Given the description of an element on the screen output the (x, y) to click on. 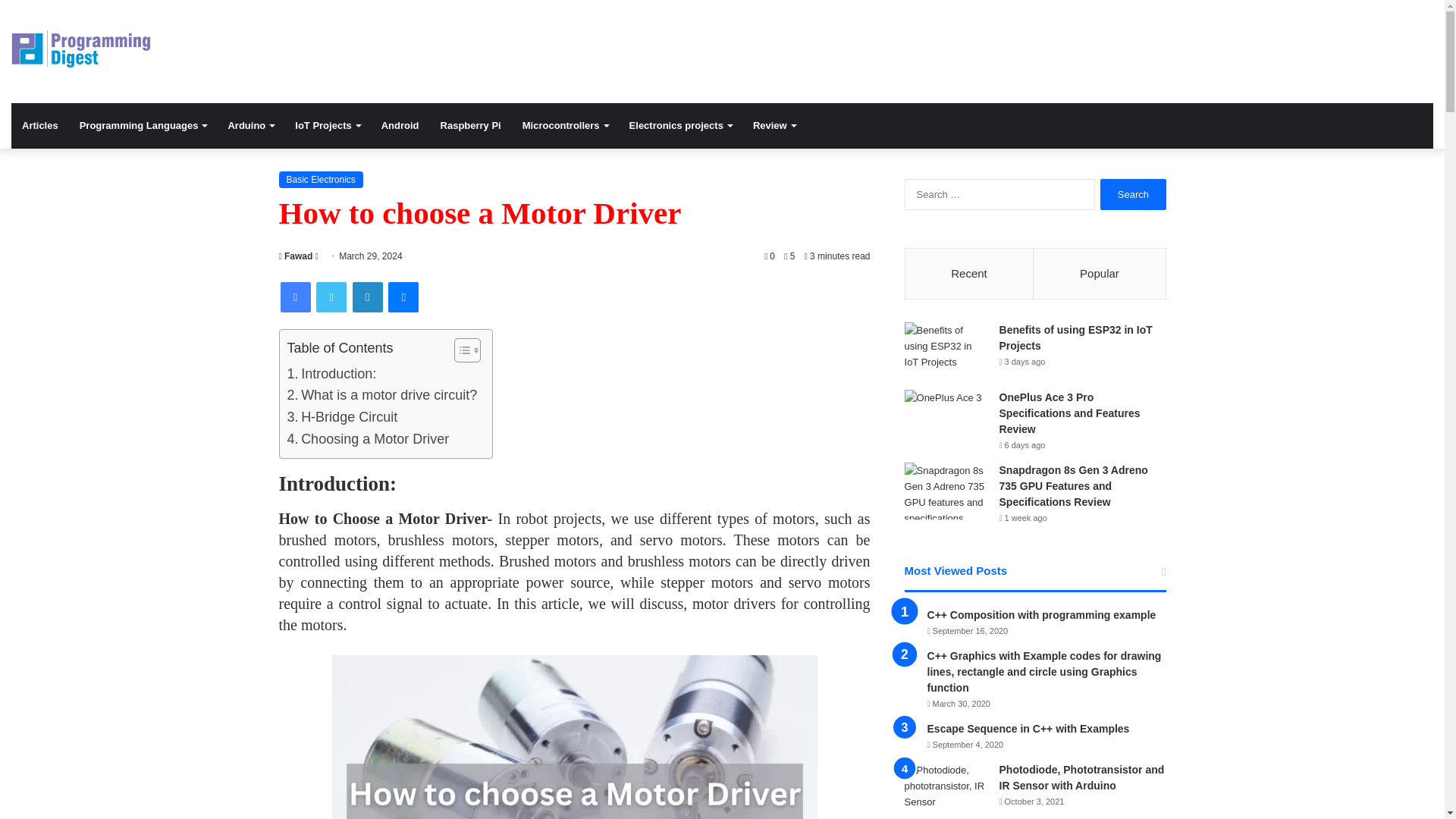
LinkedIn (367, 296)
Twitter (330, 296)
Fawad (296, 255)
Android (400, 125)
Electronics projects (680, 125)
Arduino (249, 125)
Articles (39, 125)
Raspberry Pi (470, 125)
Facebook (296, 296)
Facebook (296, 296)
Twitter (330, 296)
Review (774, 125)
H-Bridge Circuit (341, 417)
Basic Electronics (320, 179)
Programming Languages (142, 125)
